Given the description of an element on the screen output the (x, y) to click on. 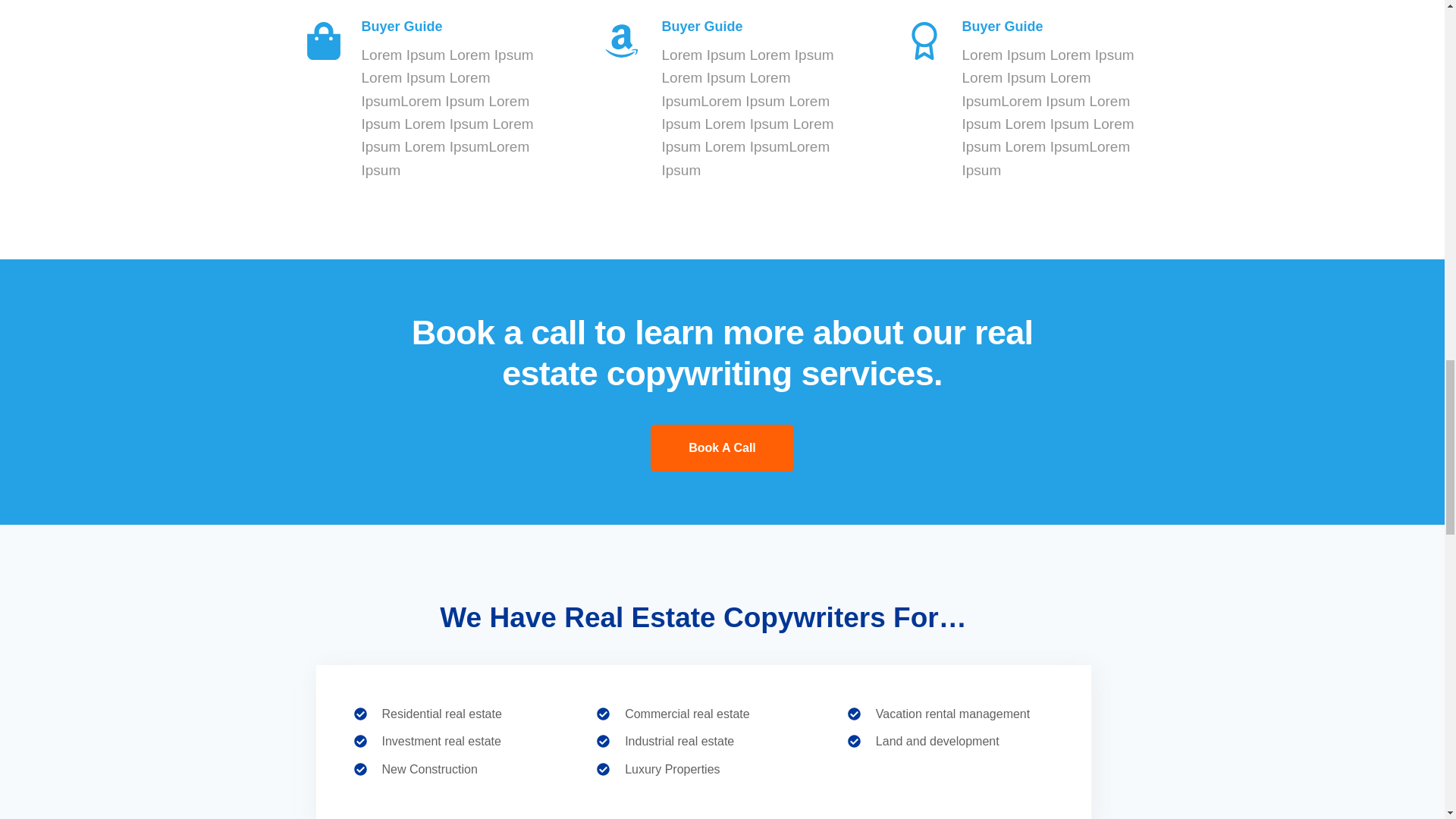
Book A Call (721, 448)
